Given the description of an element on the screen output the (x, y) to click on. 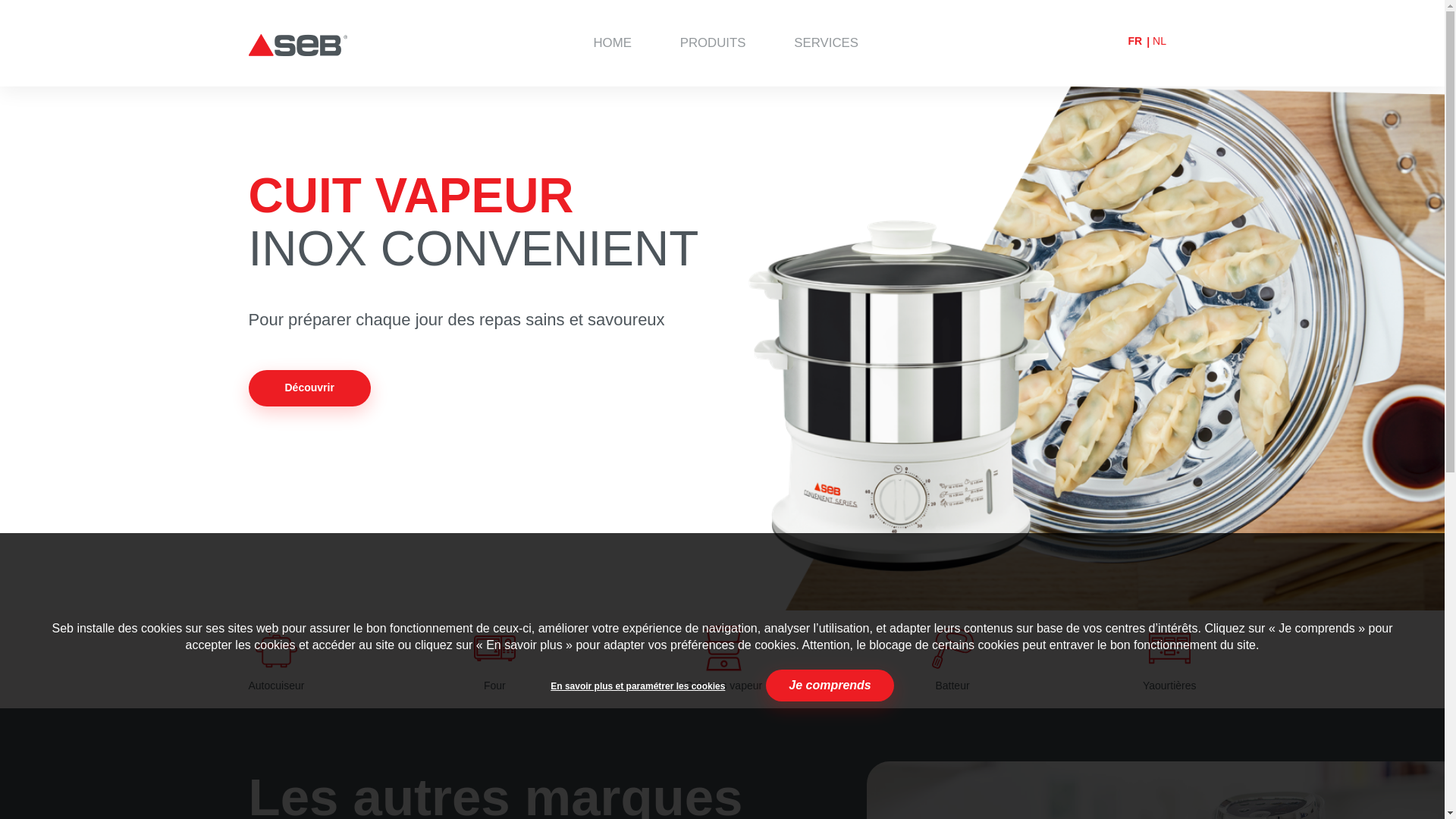
PRODUITS Element type: text (713, 42)
Je comprends Element type: text (829, 685)
HOME Element type: text (611, 42)
Cuiseurs vapeur Element type: text (723, 659)
Four Element type: text (494, 659)
Autocuiseur Element type: text (276, 659)
Batteur Element type: text (952, 659)
SERVICES Element type: text (825, 42)
FR Element type: text (1134, 40)
NL Element type: text (1159, 40)
